Given the description of an element on the screen output the (x, y) to click on. 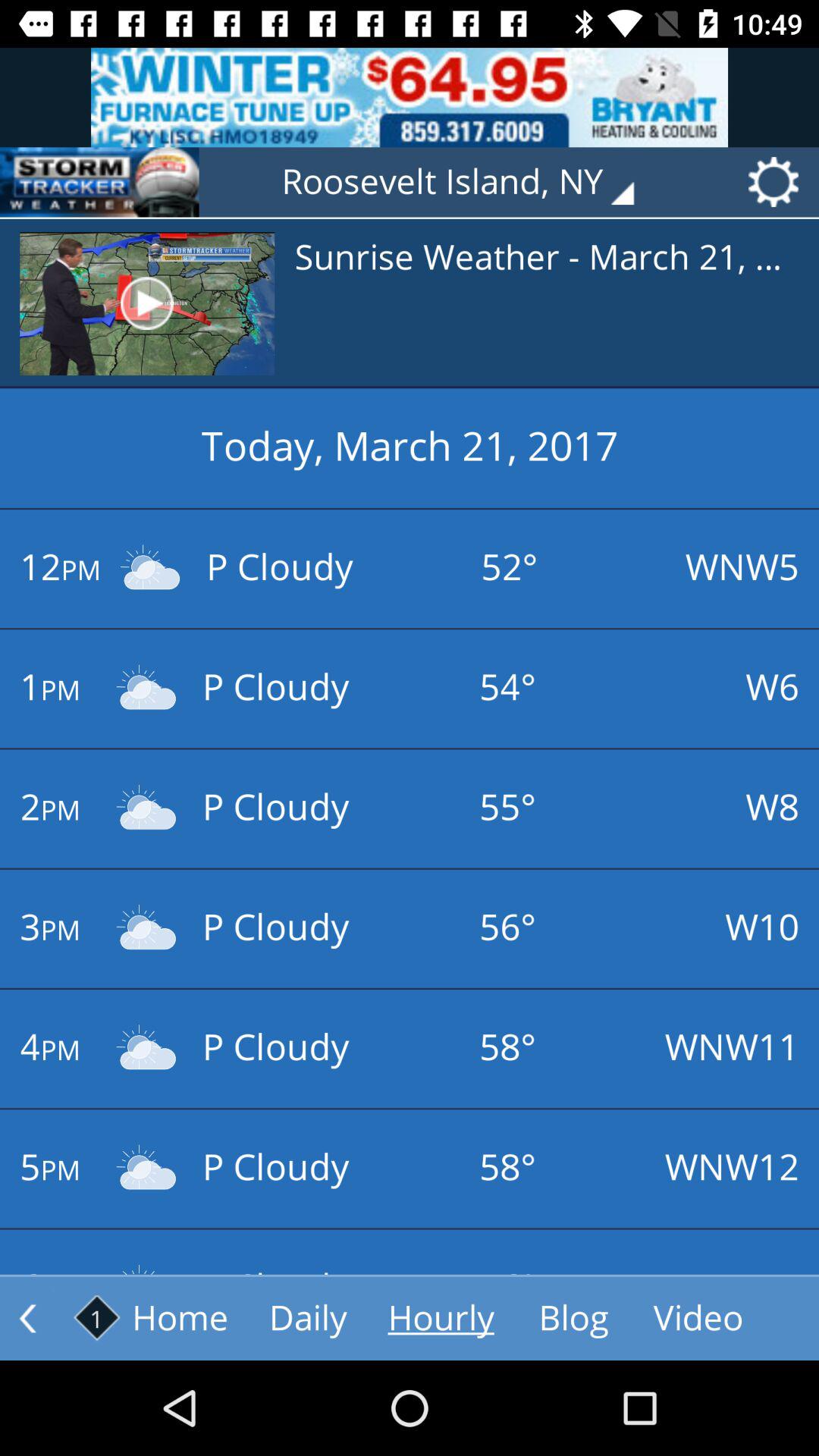
tap roosevelt island, ny icon (468, 182)
